Given the description of an element on the screen output the (x, y) to click on. 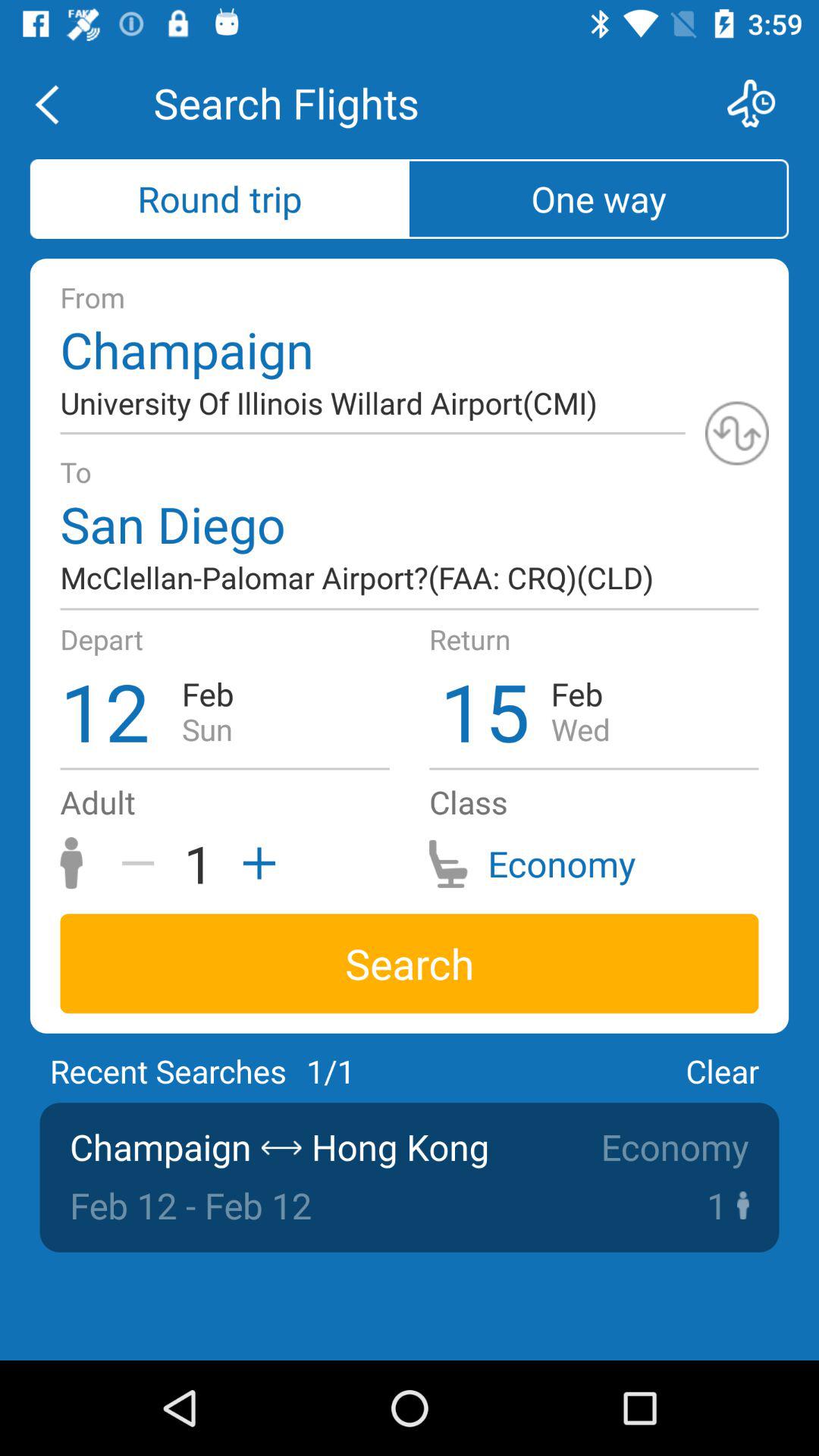
negative button (143, 863)
